Given the description of an element on the screen output the (x, y) to click on. 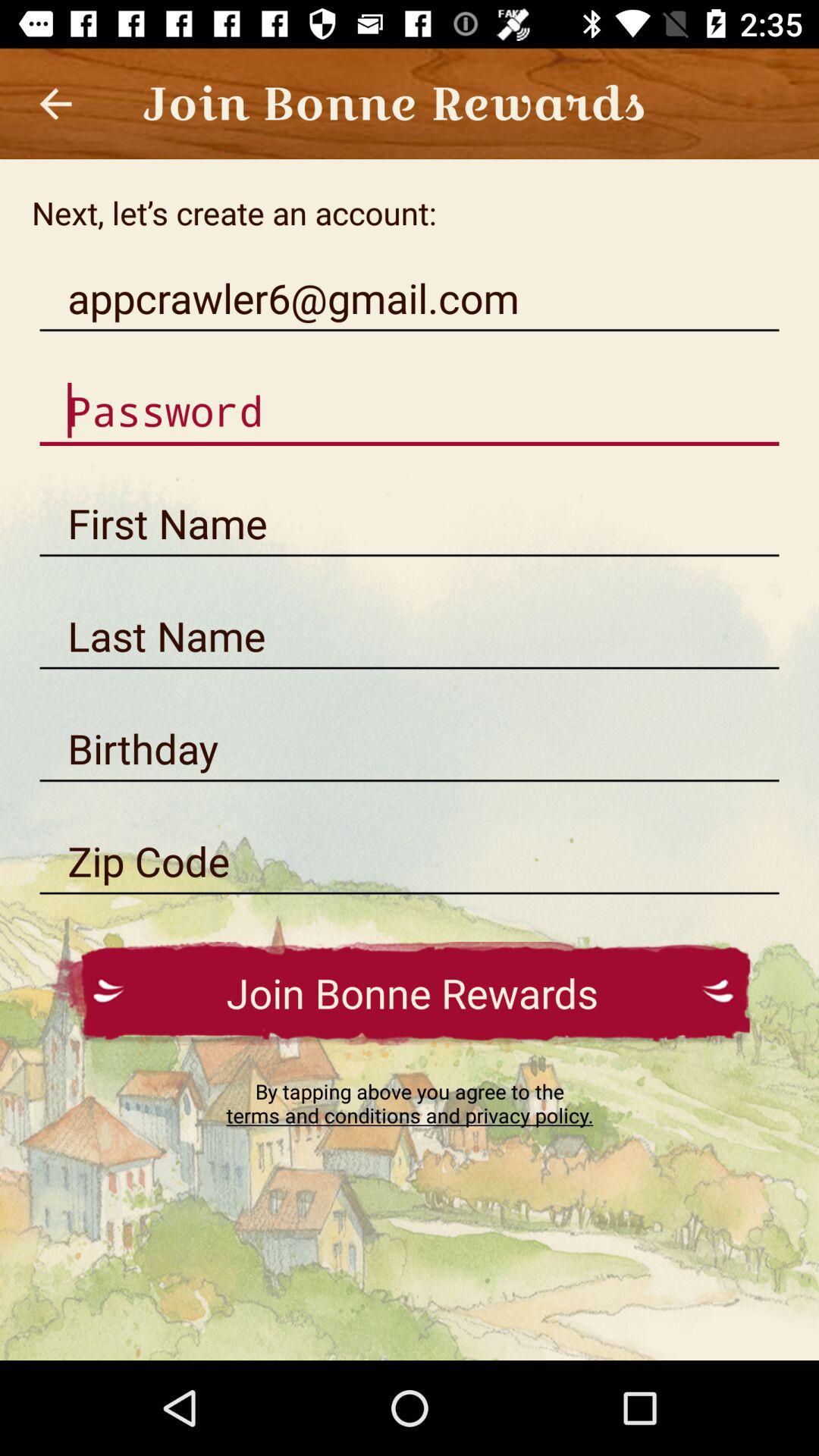
select birthday field (409, 748)
